Given the description of an element on the screen output the (x, y) to click on. 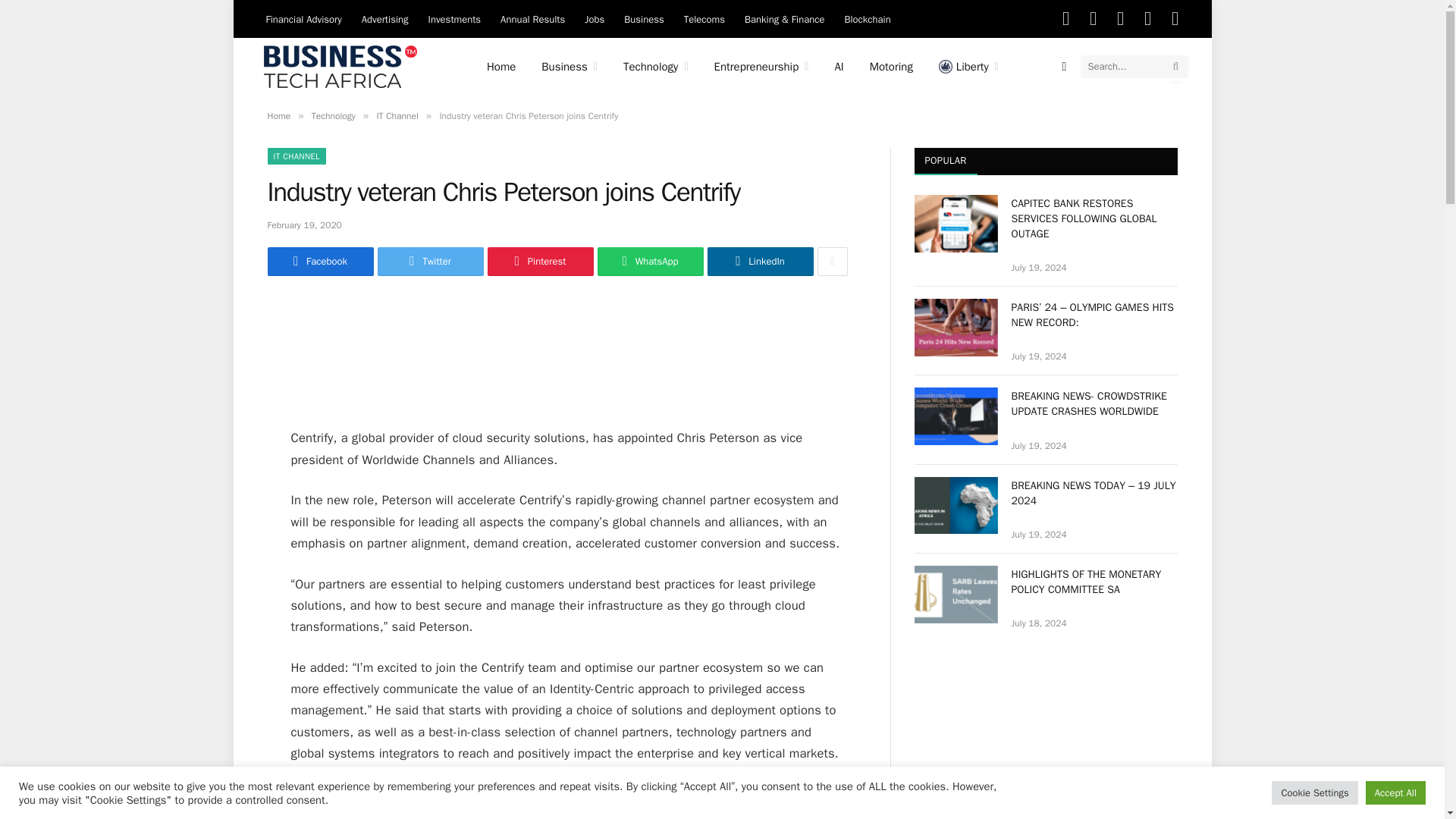
Investments (455, 18)
Technology (655, 66)
Home (501, 66)
Advertising (385, 18)
Switch to Dark Design - easier on eyes. (1064, 66)
Share on LinkedIn (759, 261)
Annual Results (532, 18)
Business (569, 66)
Jobs (594, 18)
Business (643, 18)
Telecoms (704, 18)
Financial Advisory (304, 18)
Share on Facebook (319, 261)
Share on Pinterest (539, 261)
Show More Social Sharing (831, 261)
